Given the description of an element on the screen output the (x, y) to click on. 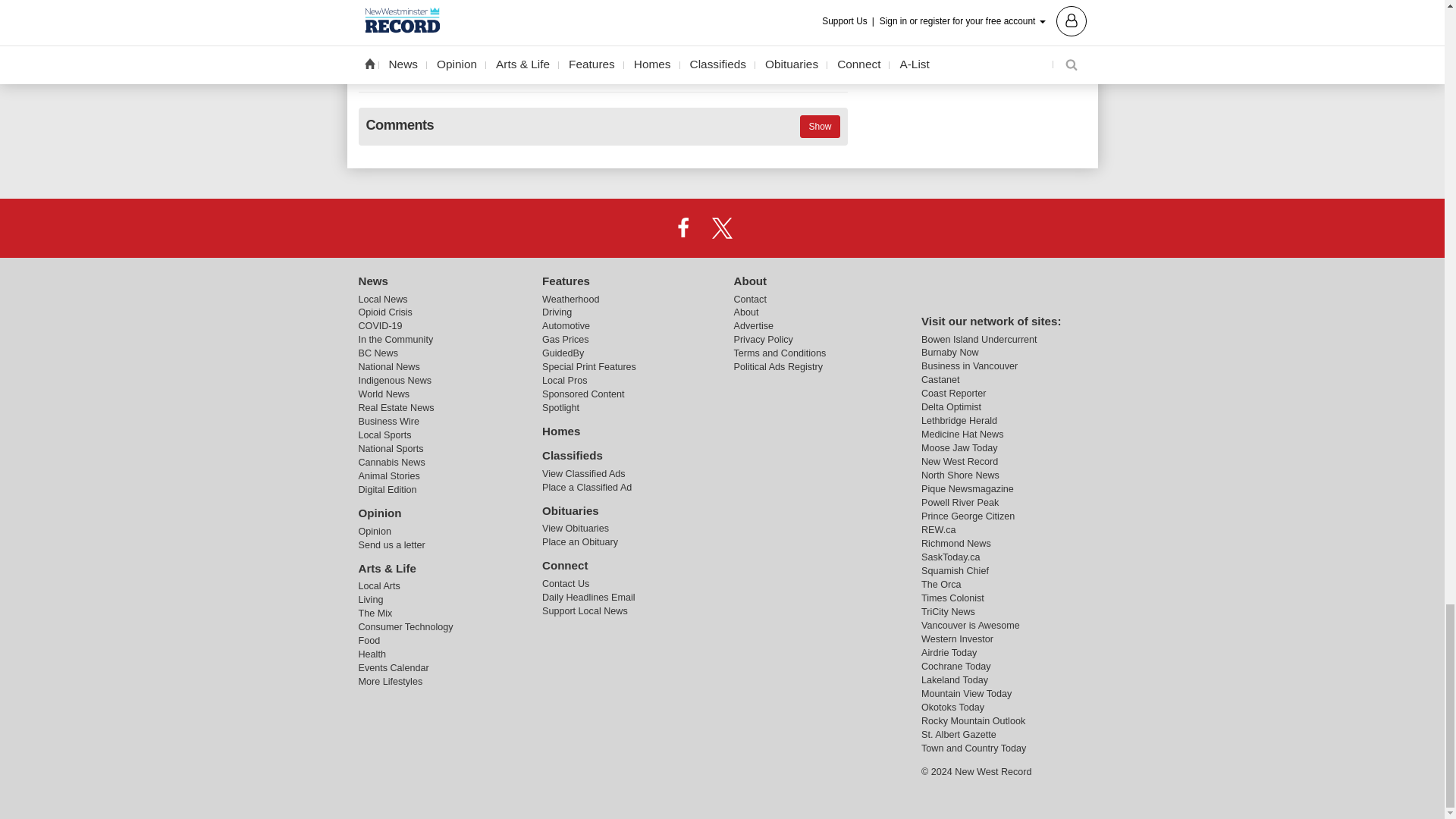
Instagram (760, 226)
X (721, 226)
Facebook (683, 226)
